Given the description of an element on the screen output the (x, y) to click on. 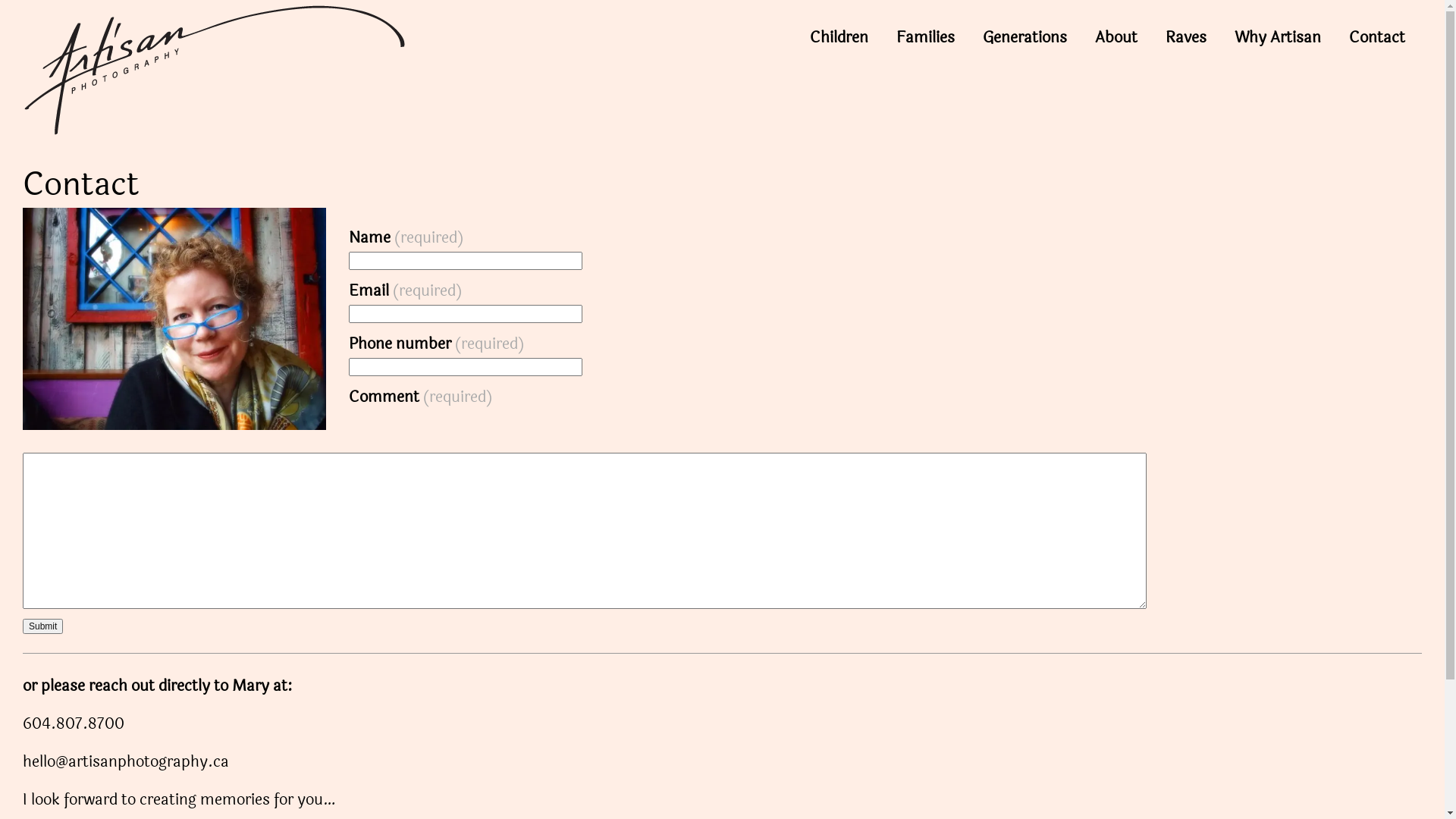
Raves Element type: text (1185, 37)
Generations Element type: text (1024, 37)
Why Artisan Element type: text (1277, 37)
Families Element type: text (925, 37)
Contact Element type: text (1377, 37)
hello@artisanphotography.ca Element type: text (125, 761)
About Element type: text (1116, 37)
Submit Element type: text (42, 625)
Children Element type: text (839, 37)
Artisan Photography Element type: hover (261, 70)
